Given the description of an element on the screen output the (x, y) to click on. 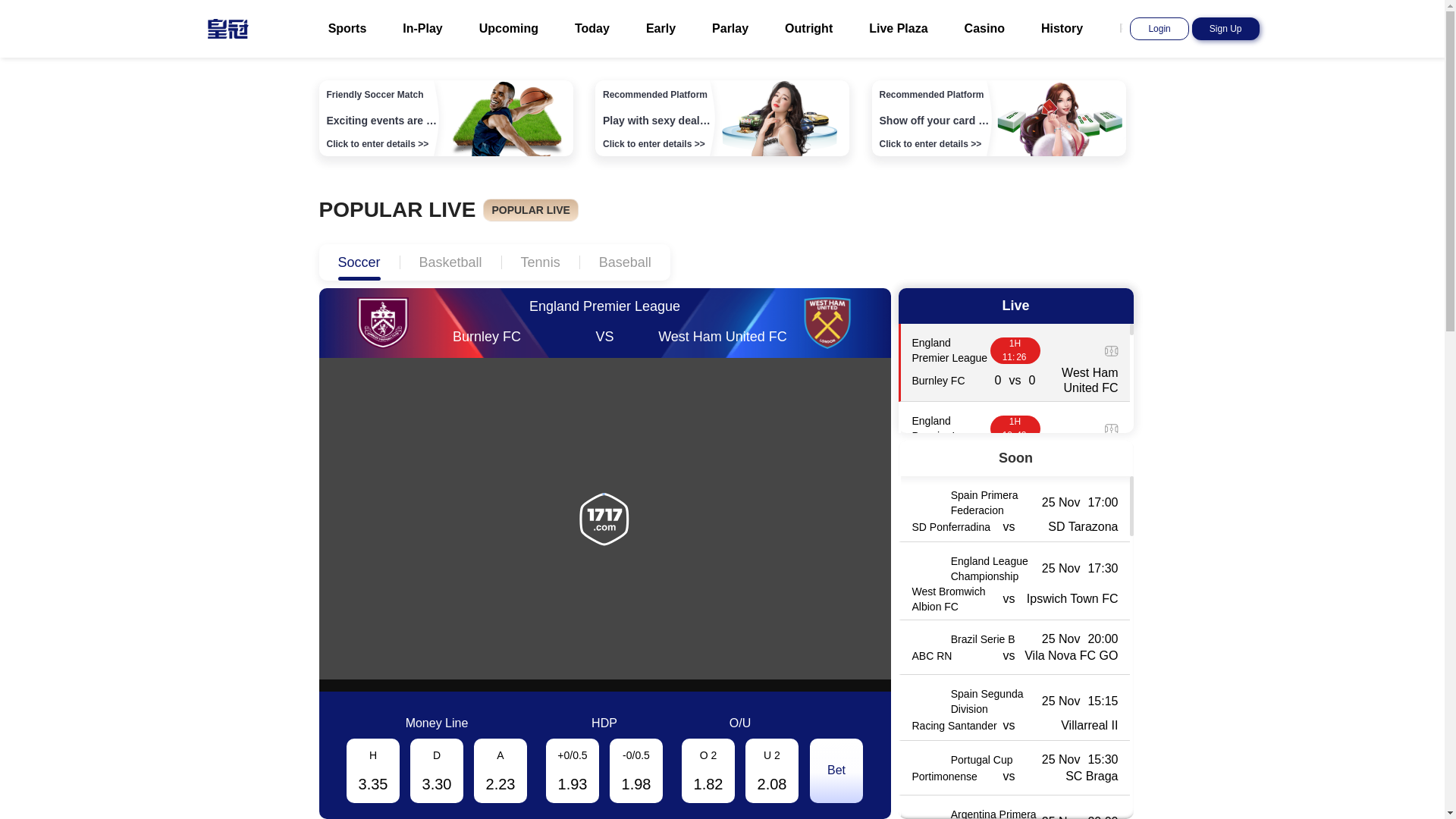
Click to enter details >> Element type: text (377, 143)
Click to enter details >> Element type: text (930, 143)
Bet Element type: text (835, 770)
Sign Up Element type: text (1225, 28)
Click to enter details >> Element type: text (653, 143)
Login Element type: text (1158, 28)
